Given the description of an element on the screen output the (x, y) to click on. 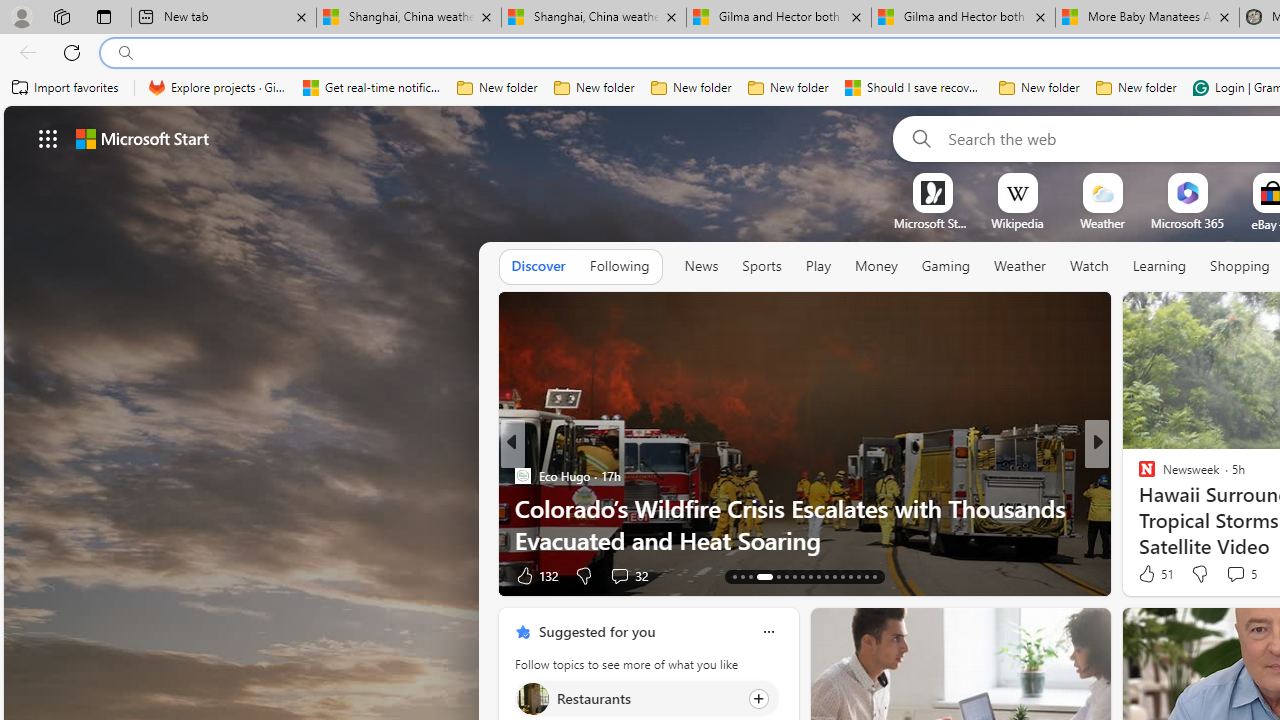
Click to follow topic Restaurants (646, 698)
9 Like (1145, 574)
Search icon (125, 53)
View comments 5 Comment (1234, 573)
AutomationID: tab-30 (850, 576)
View comments 3 Comment (1229, 575)
AutomationID: tab-33 (874, 576)
15 Like (1149, 574)
11 Like (1149, 574)
